Given the description of an element on the screen output the (x, y) to click on. 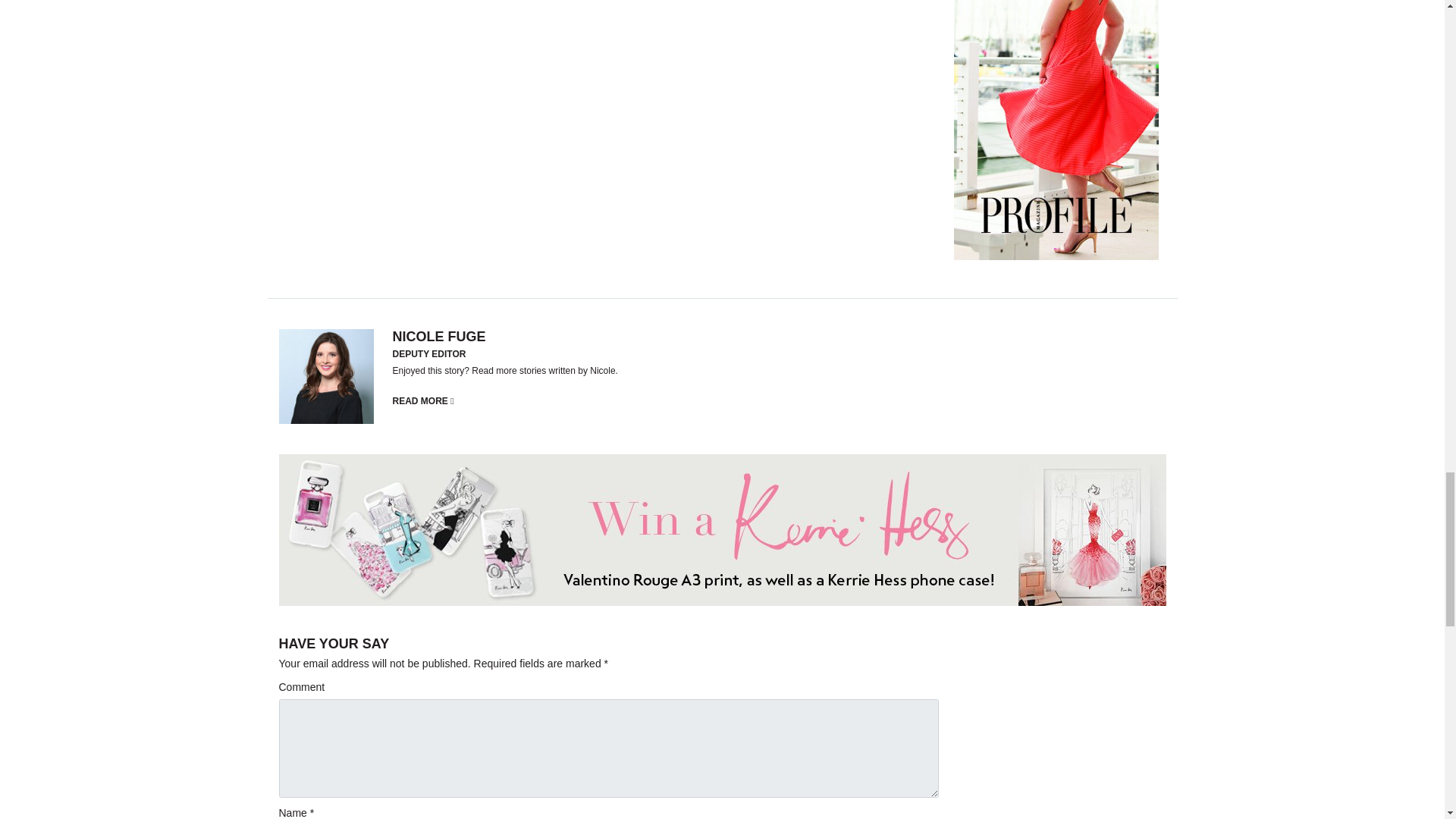
READ MORE (423, 400)
